Given the description of an element on the screen output the (x, y) to click on. 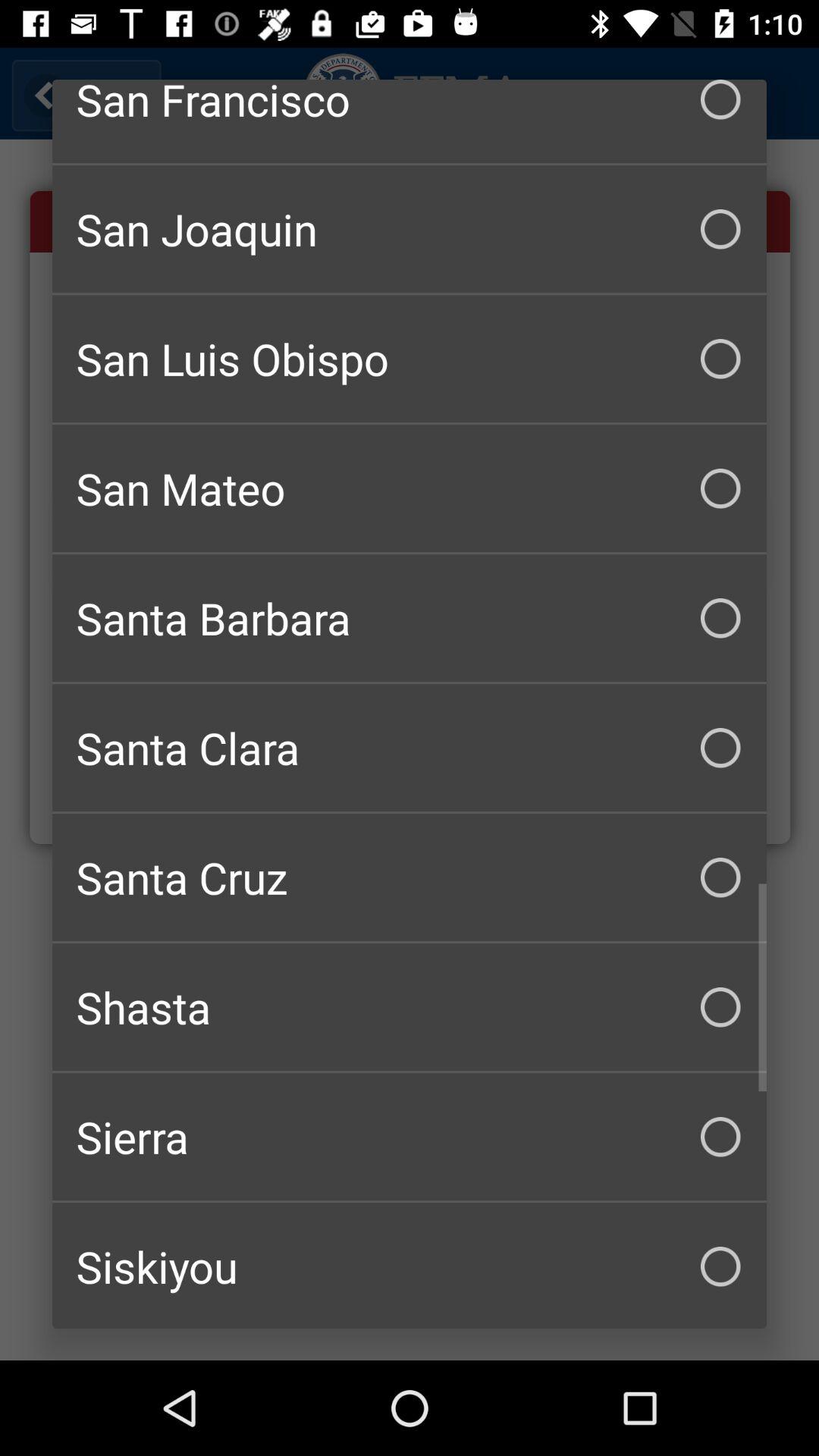
scroll until santa clara checkbox (409, 747)
